Given the description of an element on the screen output the (x, y) to click on. 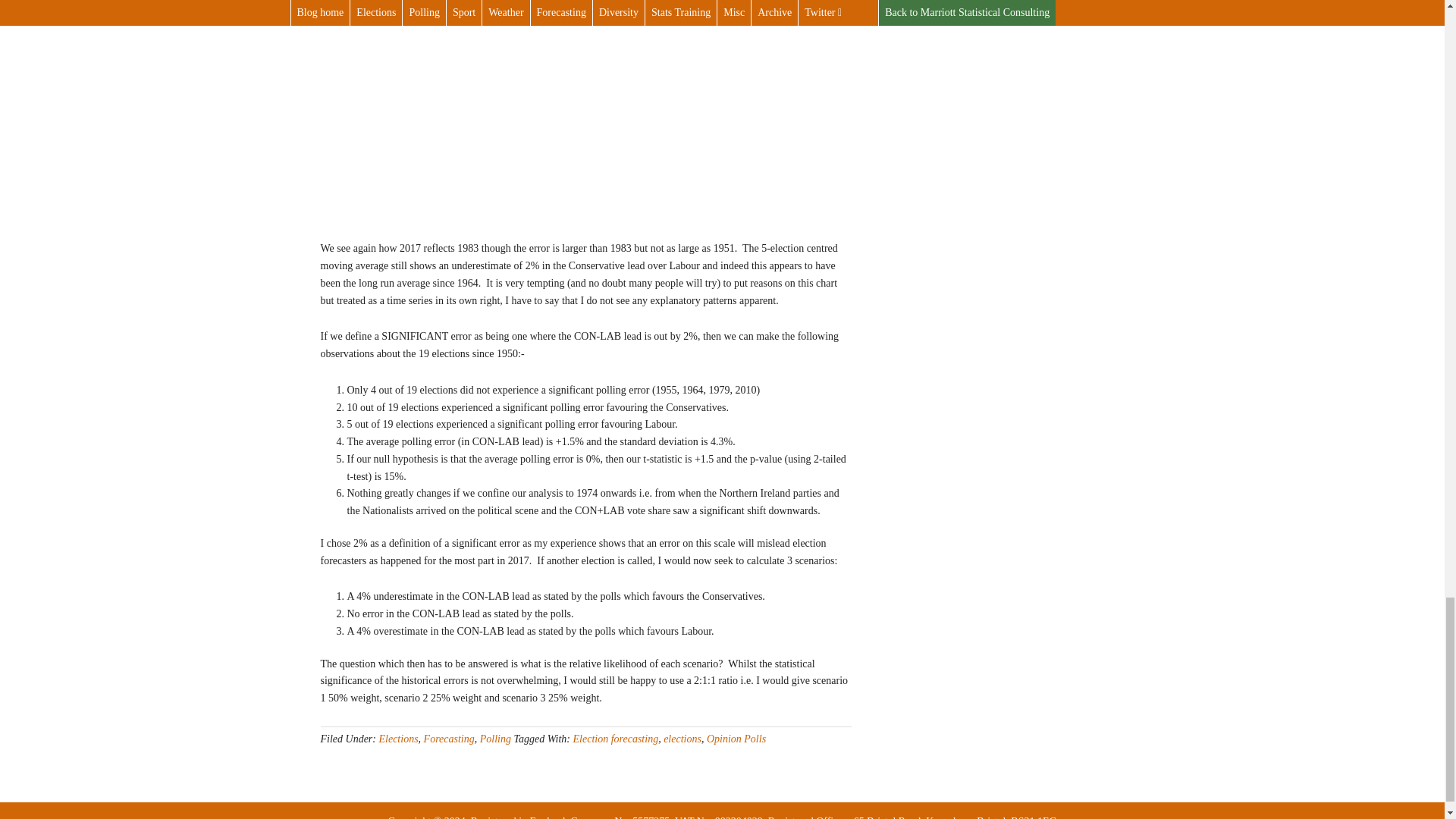
Opinion Polls (735, 738)
Forecasting (448, 738)
elections (682, 738)
Elections (397, 738)
Election forecasting (616, 738)
Polling (495, 738)
